Given the description of an element on the screen output the (x, y) to click on. 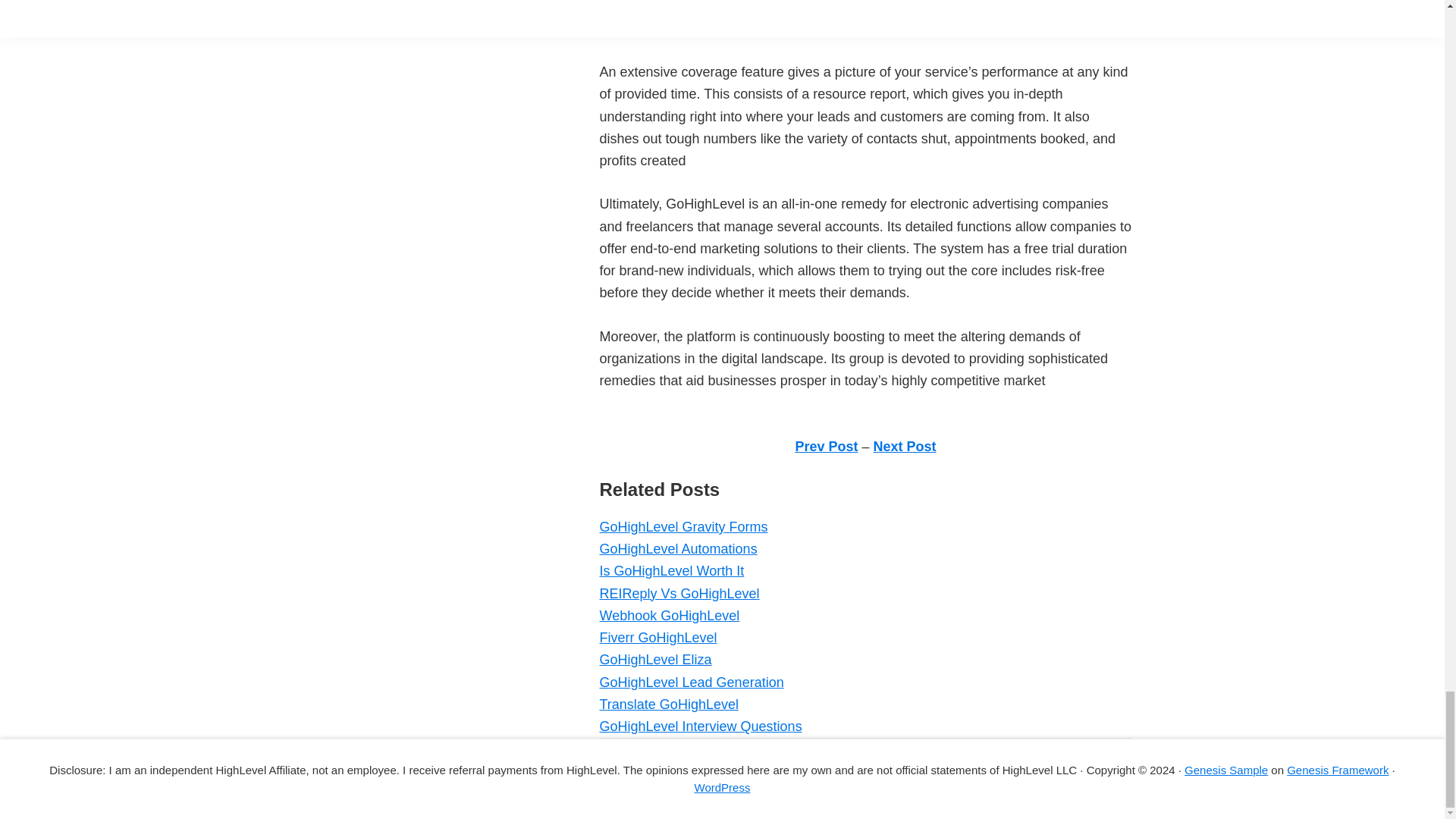
GoHighLevel Interview Questions (700, 726)
REIReply Vs GoHighLevel (678, 593)
Is GoHighLevel Worth It (671, 570)
GoHighLevel Eliza (654, 659)
GoHighLevel Interview Questions (700, 726)
GoHighLevel Eliza (654, 659)
Webhook GoHighLevel (668, 615)
GoHighLevel Automations (677, 548)
Prev Post (825, 446)
GoHighLevel Lead Generation (690, 682)
